Given the description of an element on the screen output the (x, y) to click on. 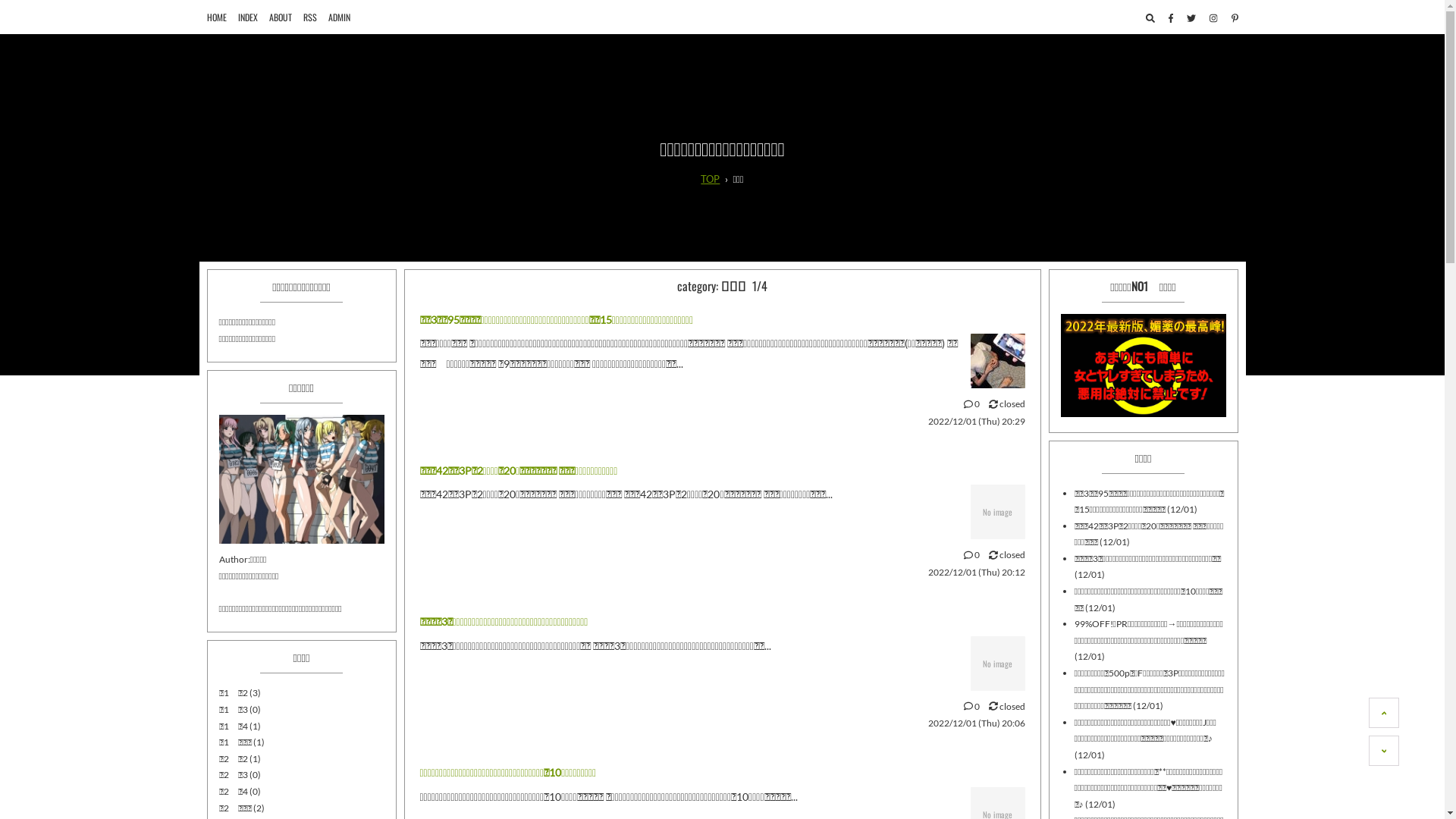
HOME Element type: text (215, 16)
No image Element type: text (997, 663)
RSS Element type: text (309, 16)
TOP Element type: text (709, 178)
INDEX Element type: text (247, 16)
No image Element type: text (997, 511)
ABOUT Element type: text (279, 16)
ADMIN Element type: text (338, 16)
